Given the description of an element on the screen output the (x, y) to click on. 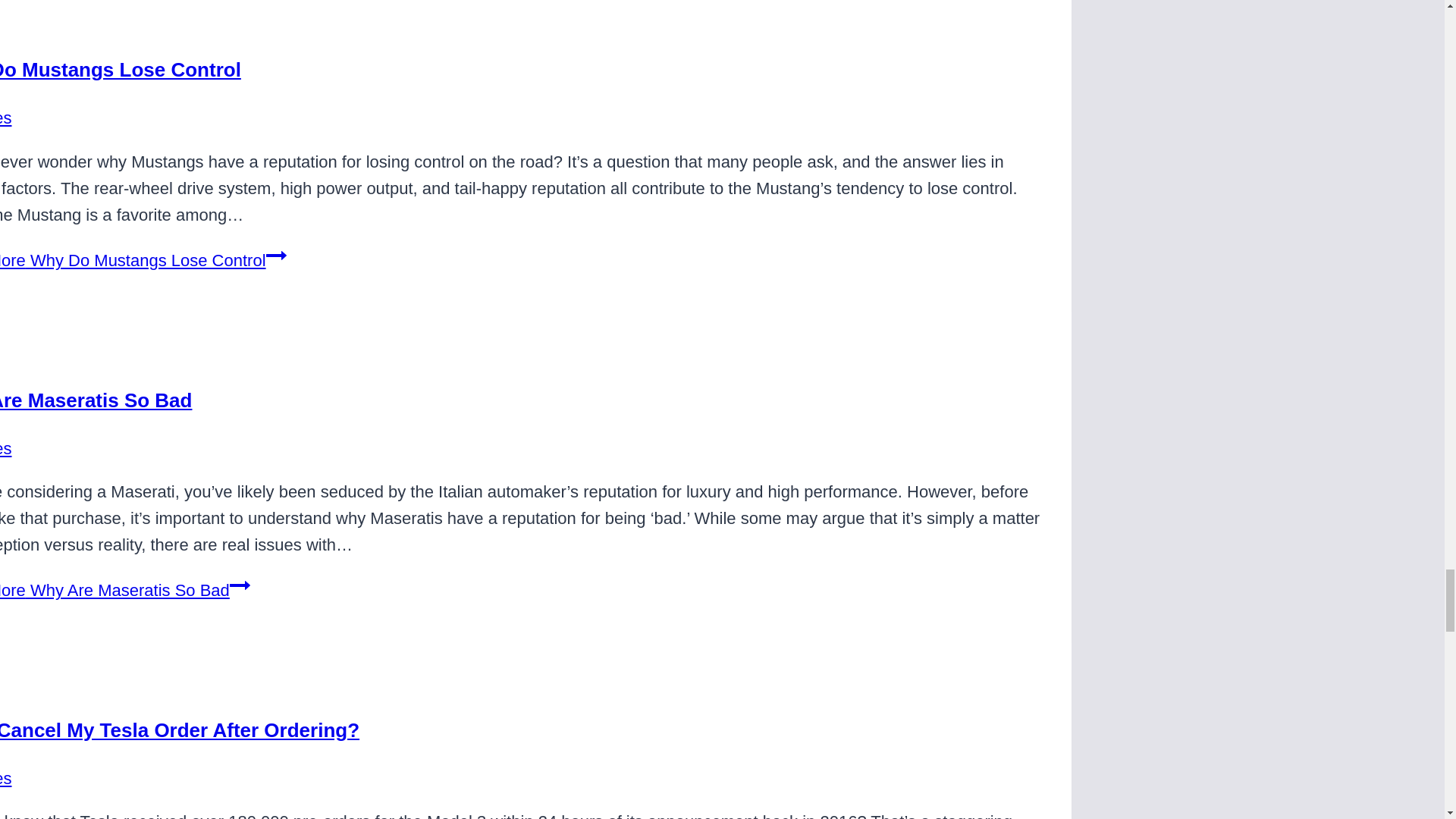
Why Are Maseratis So Bad (96, 400)
Why Do Mustangs Lose Control (120, 69)
Read More Why Do Mustangs Lose ControlContinue (143, 260)
Can I Cancel My Tesla Order After Ordering? (179, 730)
Read More Why Are Maseratis So BadContinue (125, 589)
Continue (240, 585)
Continue (276, 255)
